Given the description of an element on the screen output the (x, y) to click on. 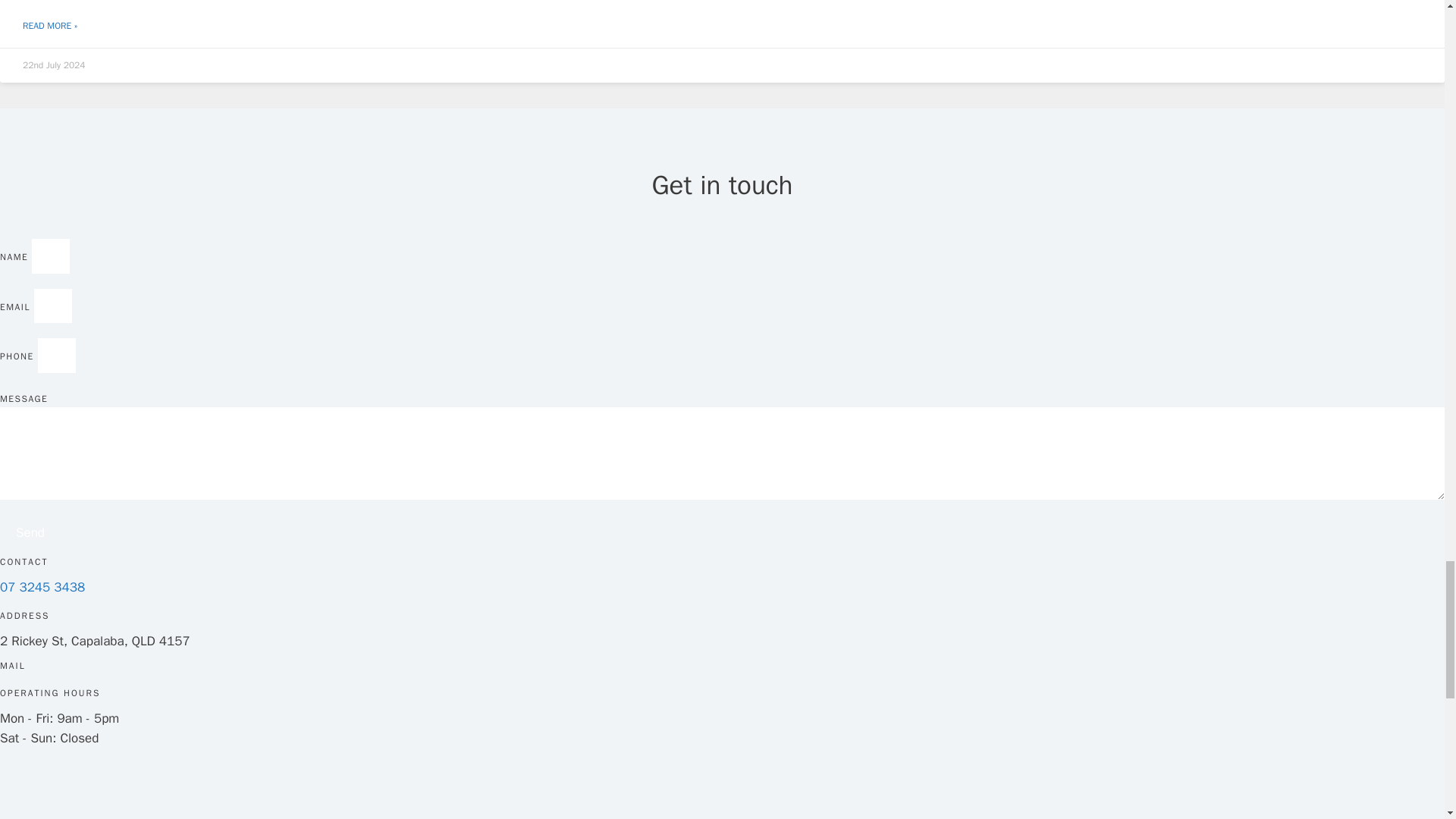
2 Rickey St, Capalaba, QLD 4157 (128, 794)
07 3245 3438 (42, 587)
Send (30, 533)
